Given the description of an element on the screen output the (x, y) to click on. 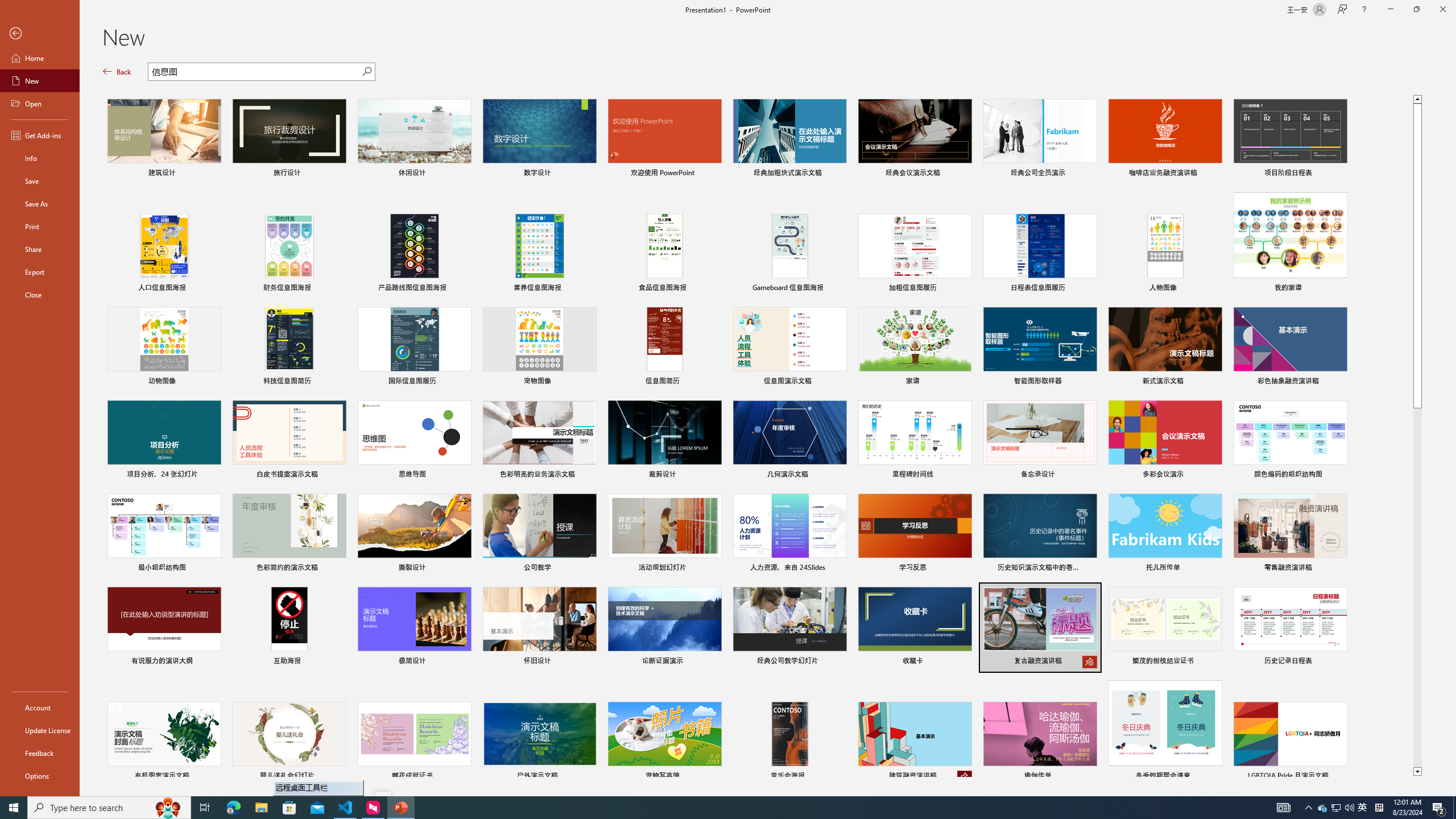
Back (40, 33)
Info (40, 157)
Print (40, 225)
Update License (40, 730)
